Given the description of an element on the screen output the (x, y) to click on. 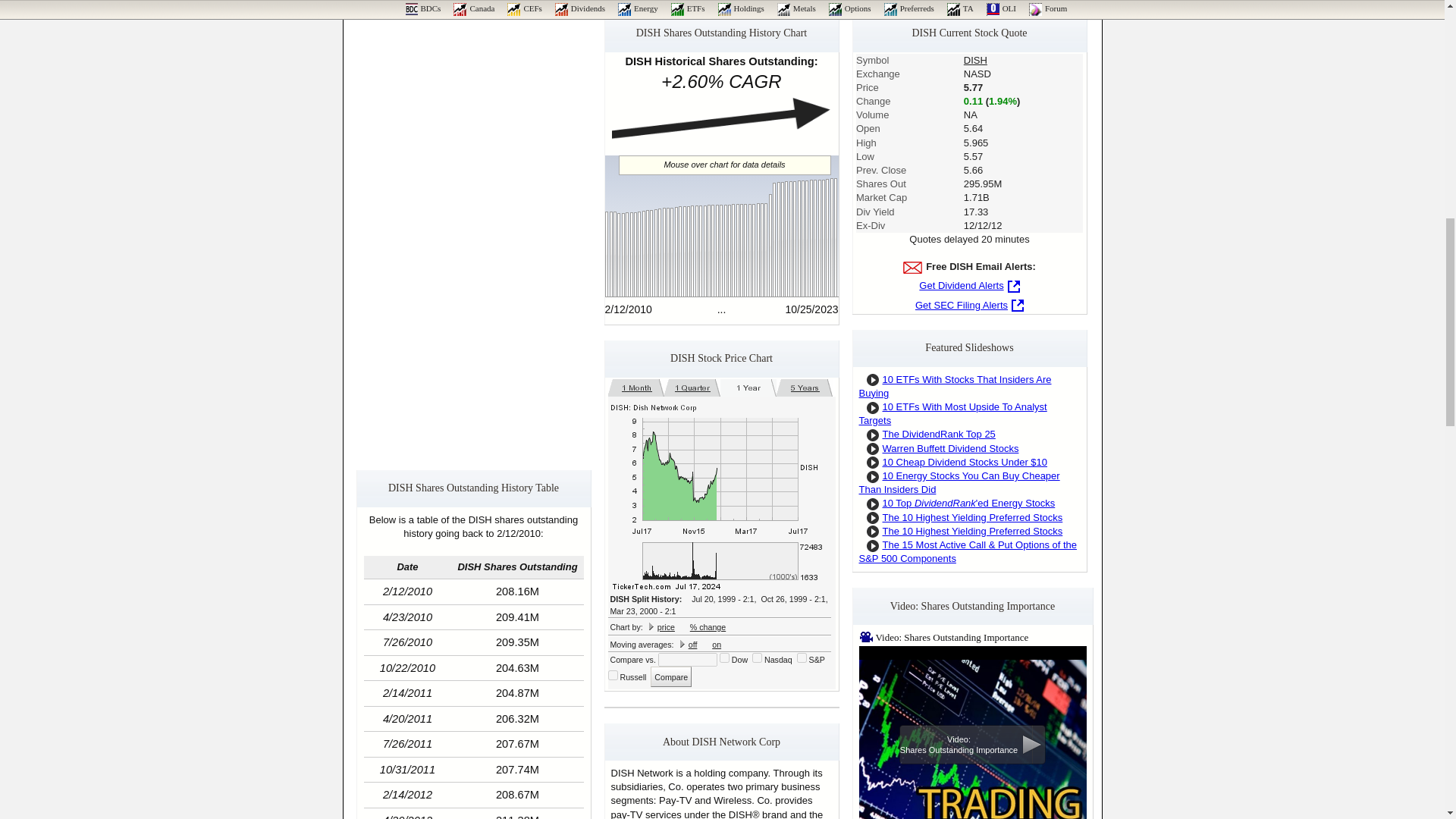
on (715, 644)
off (692, 644)
on (756, 657)
Compare (670, 676)
DISH (975, 60)
Get Dividend Alerts (968, 285)
Compare (670, 676)
The DividendRank Top 25 (938, 433)
10 ETFs With Stocks That Insiders Are Buying (955, 385)
price (666, 626)
on (612, 675)
Get SEC Filing Alerts (969, 305)
10 ETFs With Most Upside To Analyst Targets (952, 413)
on (801, 657)
on (724, 657)
